Given the description of an element on the screen output the (x, y) to click on. 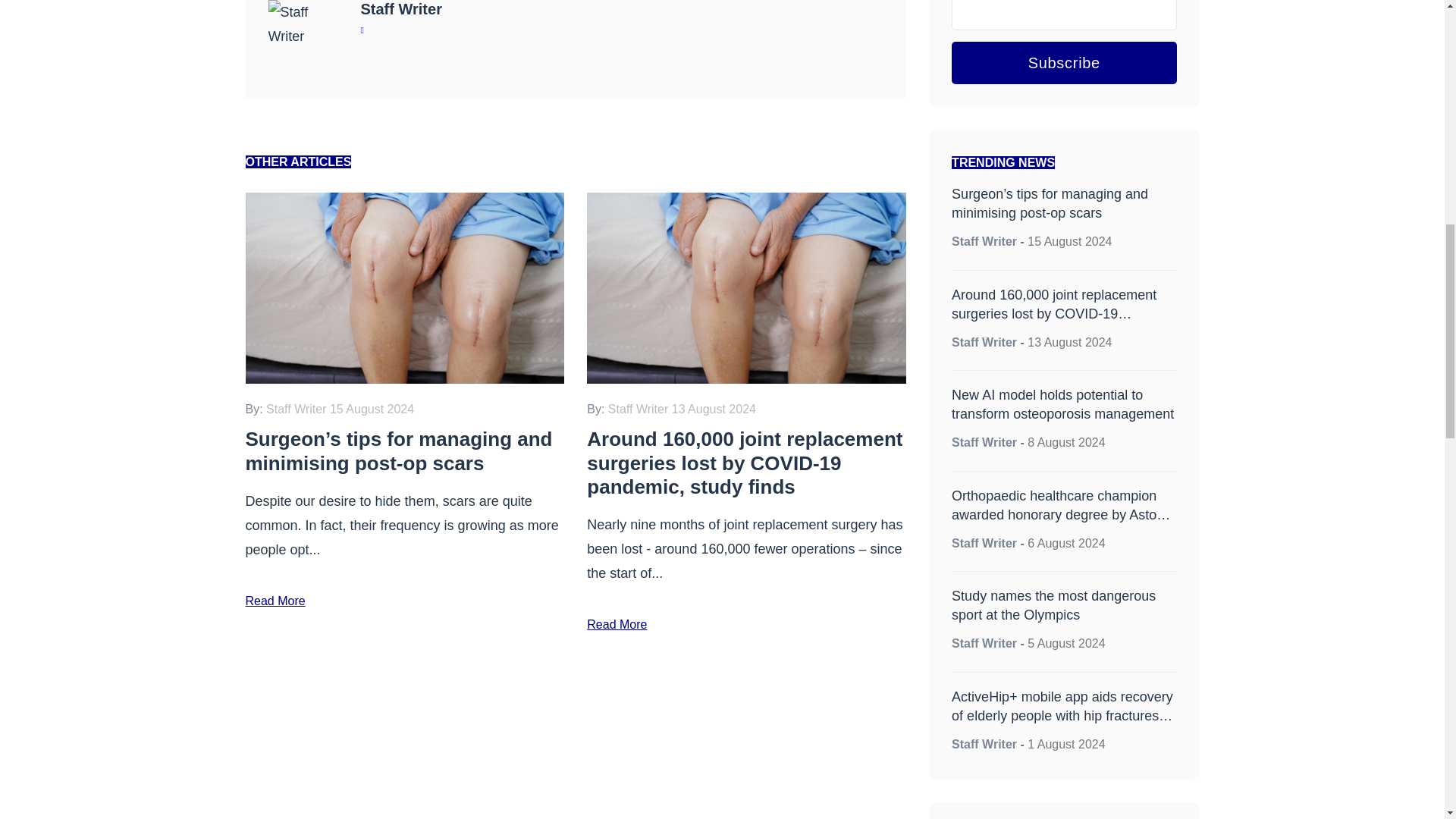
Subscribe (1064, 62)
Posts by Staff Writer (984, 744)
Posts by Staff Writer (984, 241)
Posts by Staff Writer (984, 543)
Posts by Staff Writer (984, 643)
Posts by Staff Writer (984, 441)
Posts by Staff Writer (401, 8)
Posts by Staff Writer (984, 341)
